Given the description of an element on the screen output the (x, y) to click on. 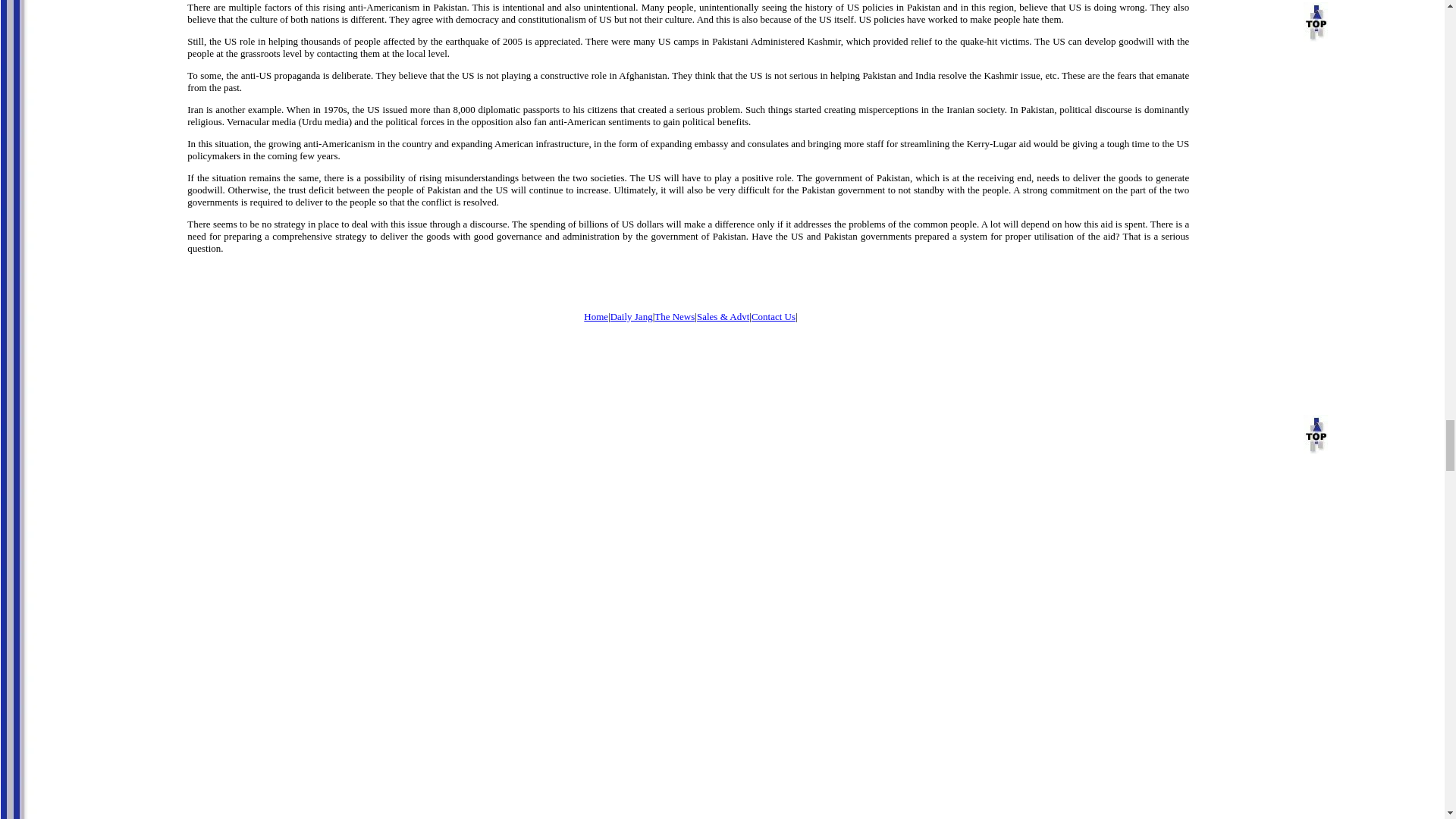
Home (595, 315)
The News (673, 315)
Contact Us (772, 315)
Daily Jang (631, 315)
